Given the description of an element on the screen output the (x, y) to click on. 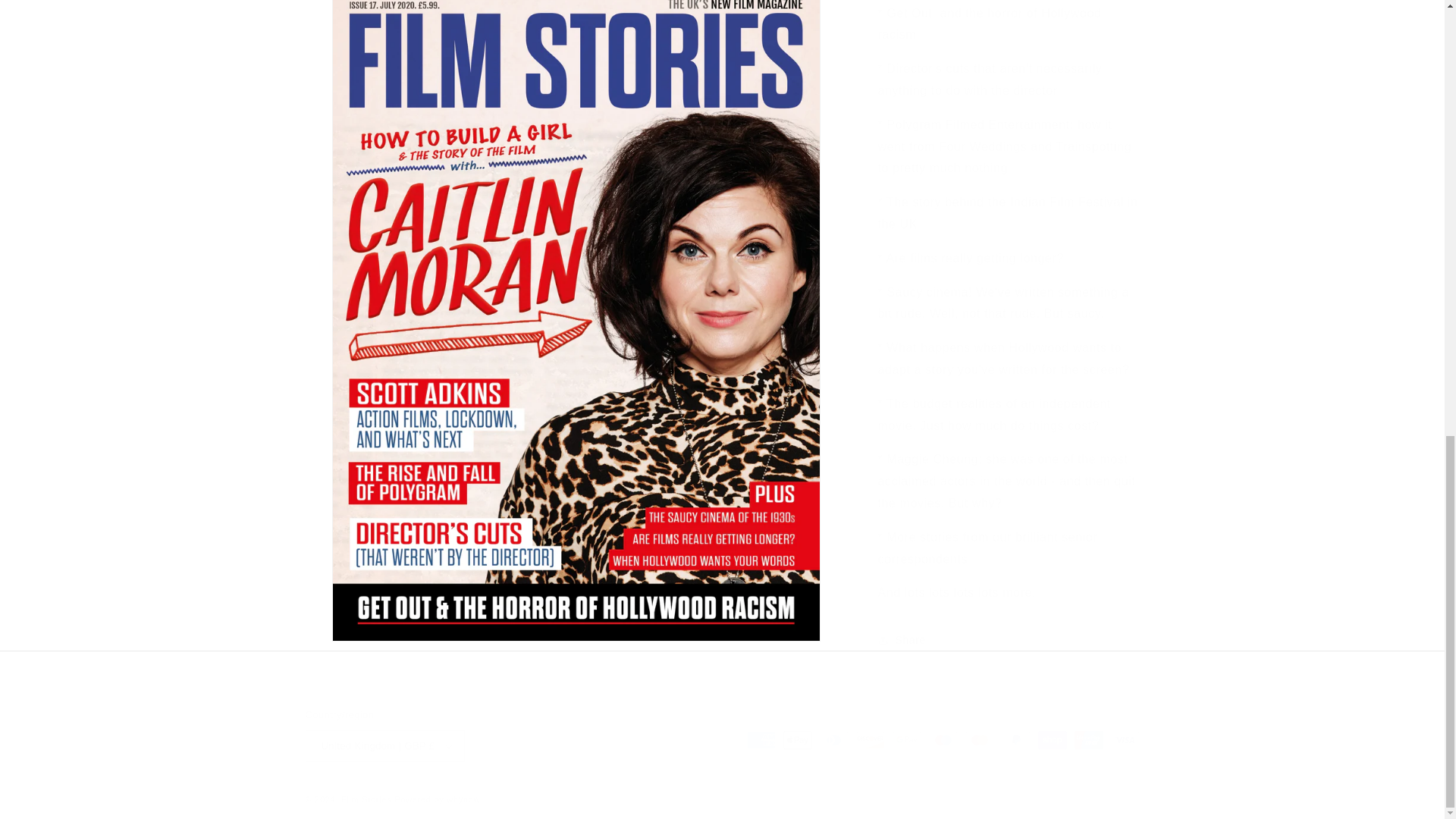
whynow (463, 798)
Film Stories (365, 798)
